Given the description of an element on the screen output the (x, y) to click on. 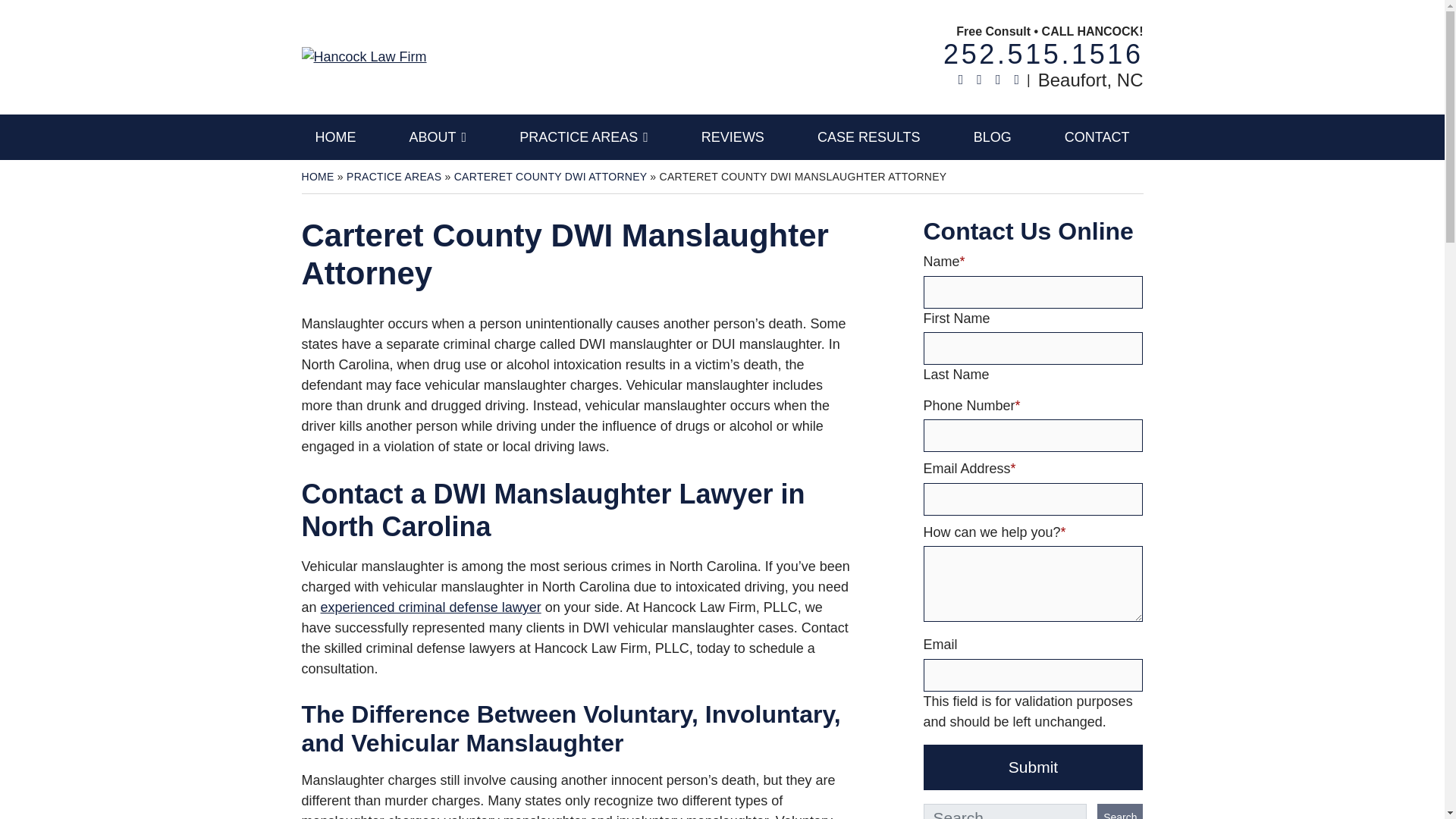
Search for: (1005, 811)
PRACTICE AREAS (583, 136)
ABOUT (438, 136)
Submit (1032, 767)
Search (1119, 811)
Search (1119, 811)
Return home (1042, 53)
HOME (363, 56)
